Given the description of an element on the screen output the (x, y) to click on. 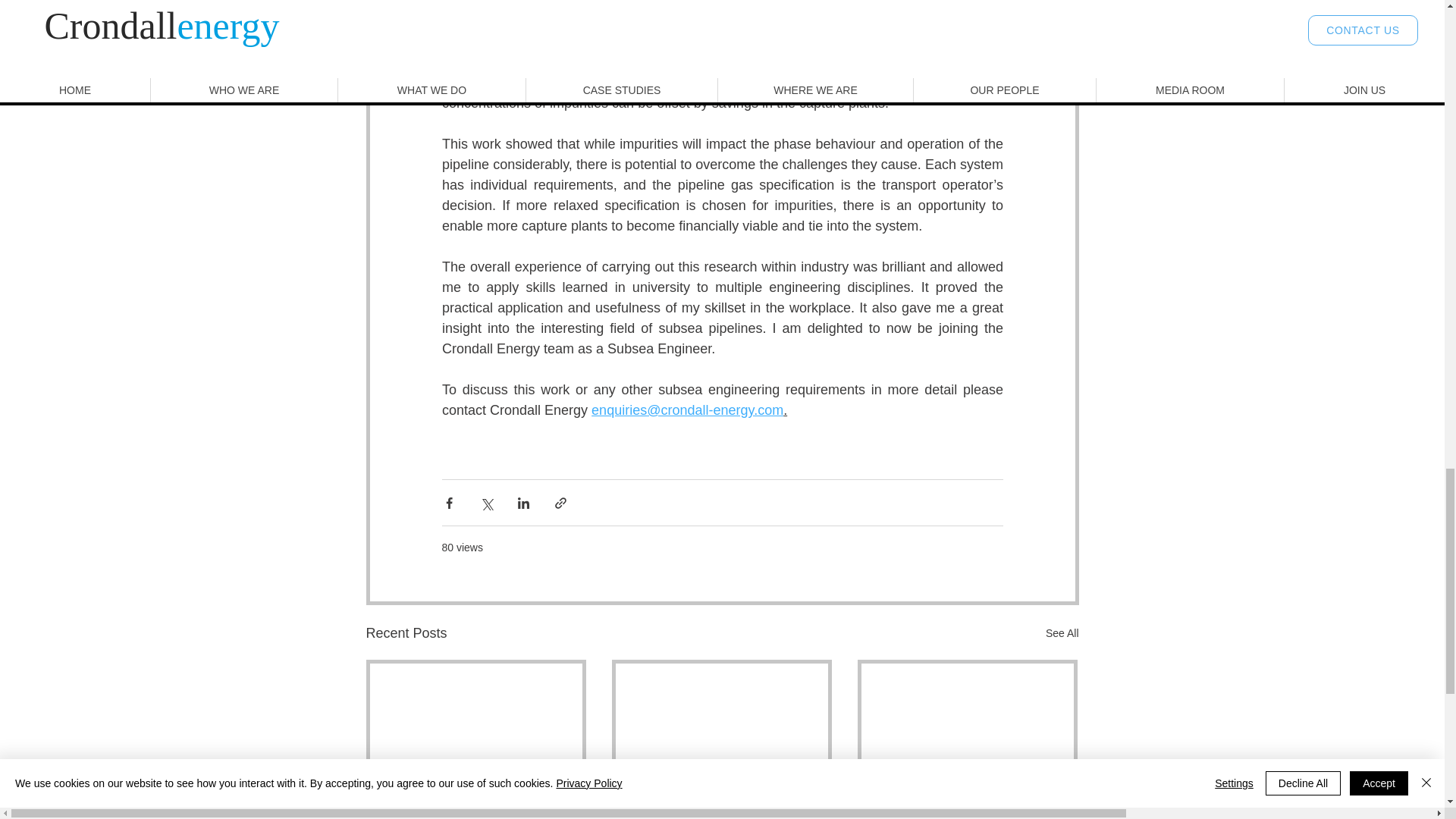
Management Buyout Starts New Chapter for Crondall Energy (721, 809)
See All (1061, 633)
